Given the description of an element on the screen output the (x, y) to click on. 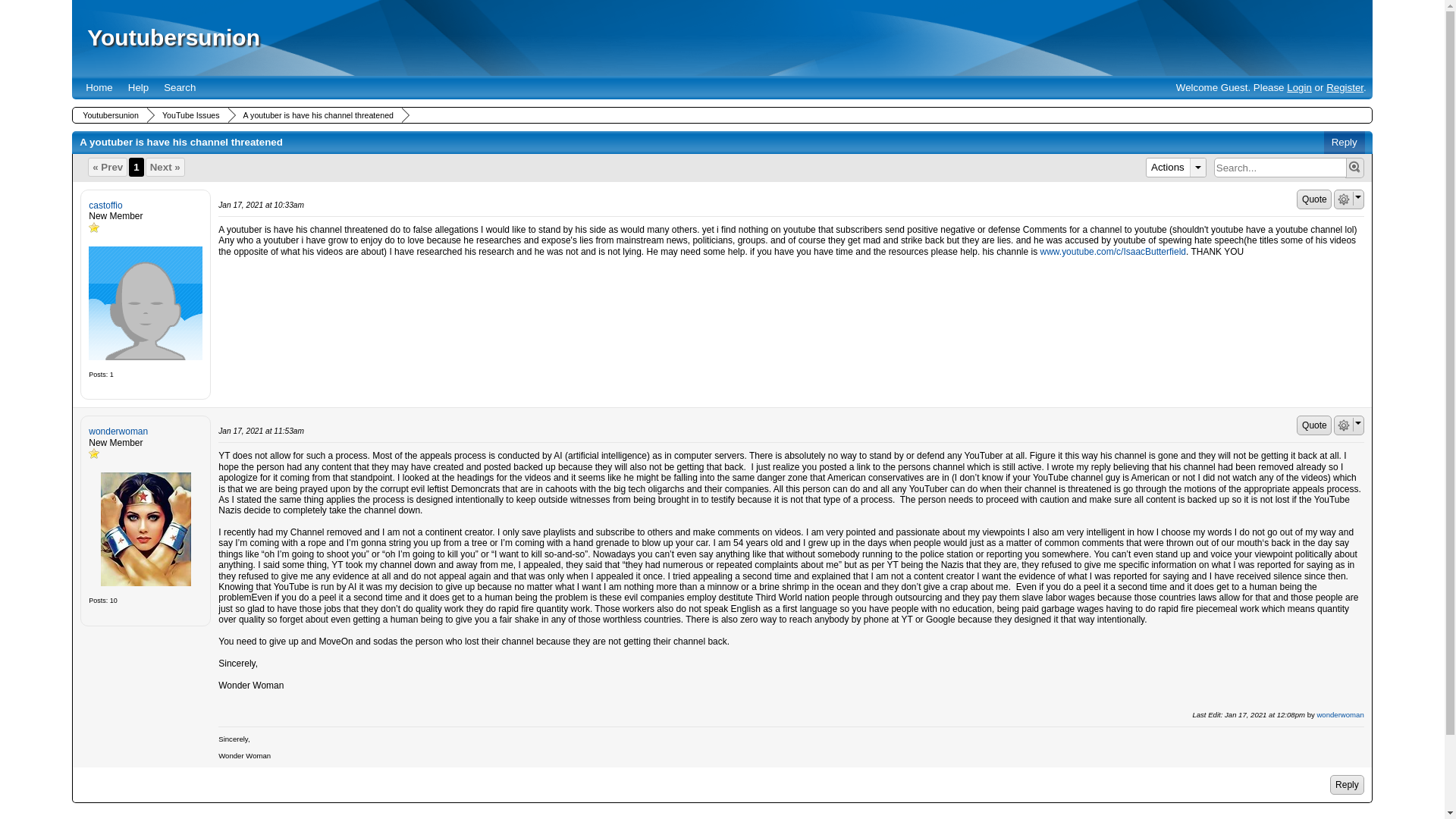
Search (179, 87)
wonderwoman (145, 529)
Post Options (1343, 199)
Post Options (1343, 425)
A youtuber is have his channel threatened (316, 114)
castoffio (145, 303)
Youtubersunion (109, 114)
Register (1344, 87)
